Given the description of an element on the screen output the (x, y) to click on. 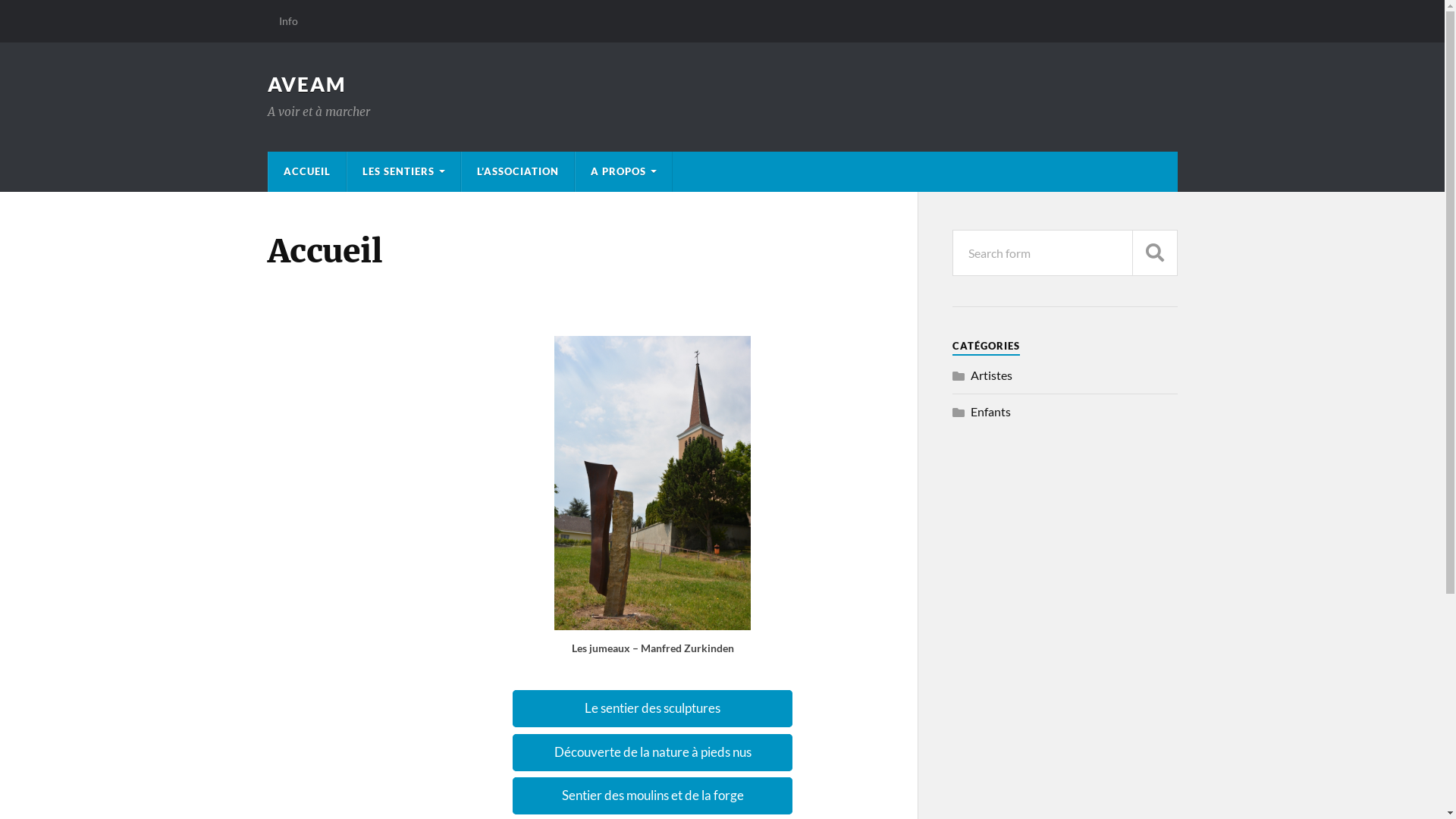
AVEAM Element type: text (305, 83)
LES SENTIERS Element type: text (403, 171)
Artistes Element type: text (991, 374)
ACCUEIL Element type: text (306, 171)
Le sentier des sculptures Element type: text (652, 708)
Sentier des moulins et de la forge Element type: text (652, 795)
A PROPOS Element type: text (622, 171)
Enfants Element type: text (990, 411)
Info Element type: text (287, 21)
